Given the description of an element on the screen output the (x, y) to click on. 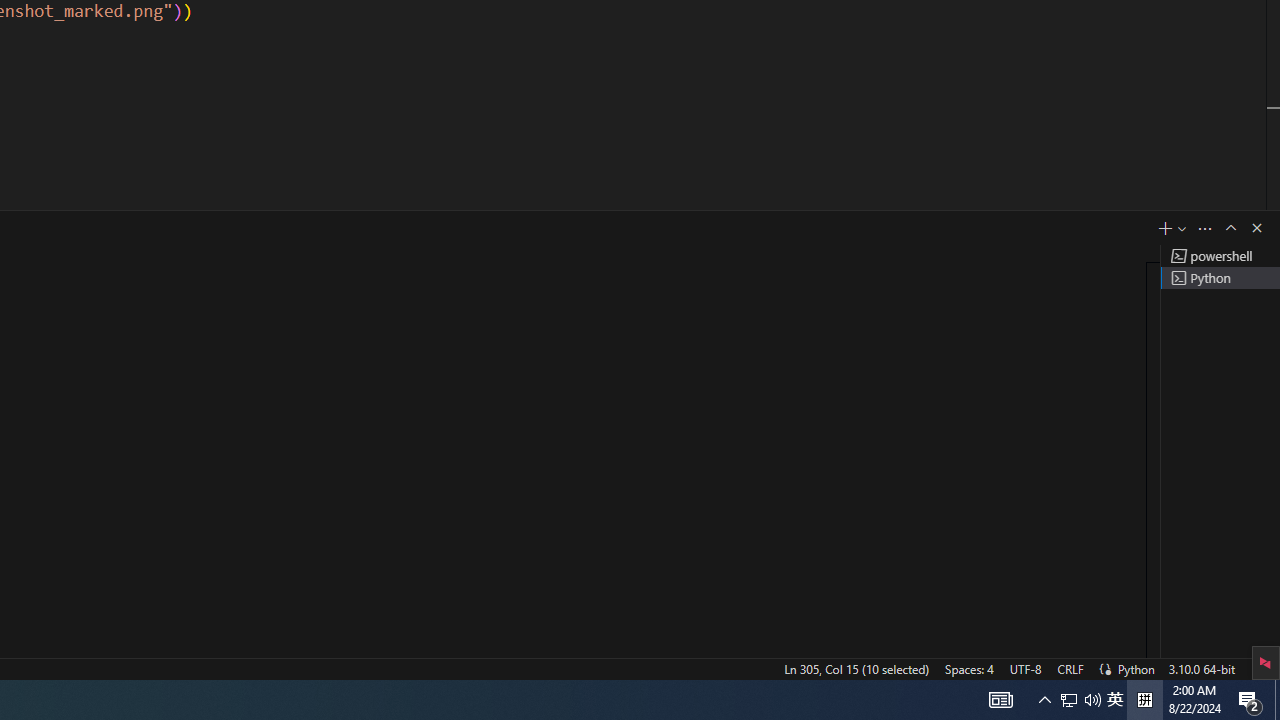
Views and More Actions... (1205, 227)
Hide Panel (1256, 227)
Maximize Panel Size (1230, 227)
Spaces: 4 (968, 668)
Terminal 5 Python (1220, 277)
UTF-8 (1025, 668)
CRLF (1070, 668)
Launch Profile... (1181, 227)
Python (1135, 668)
Terminal 1 powershell (1220, 255)
